Given the description of an element on the screen output the (x, y) to click on. 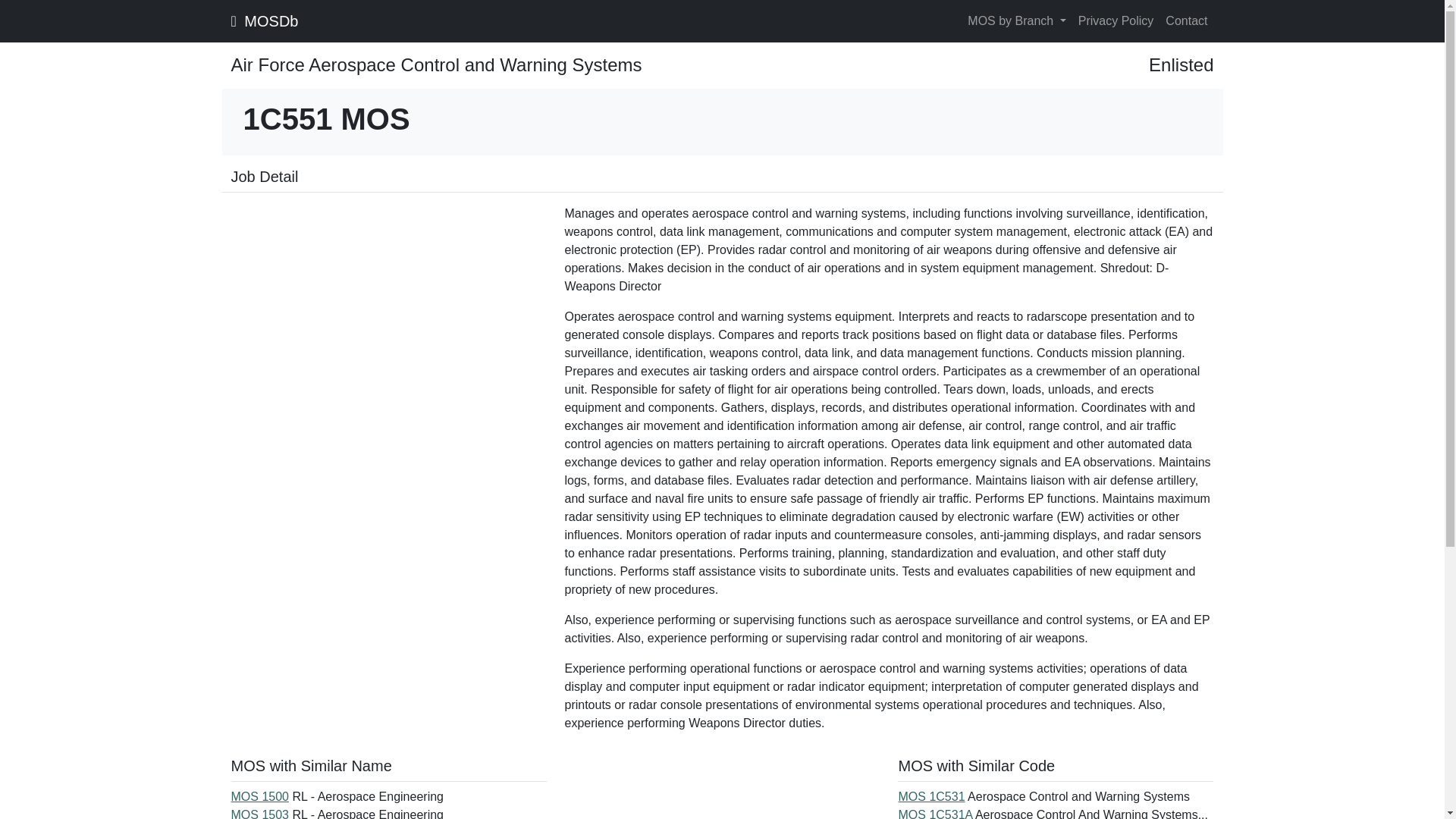
Advertisement (388, 310)
Privacy Policy (1115, 20)
MOS 1503 (259, 813)
MOS by Branch (1015, 20)
Contact (1185, 20)
MOSDb (264, 20)
MOS 1C531 (930, 796)
MOS 1500 (259, 796)
Advertisement (721, 787)
MOS 1C531A (935, 813)
